Given the description of an element on the screen output the (x, y) to click on. 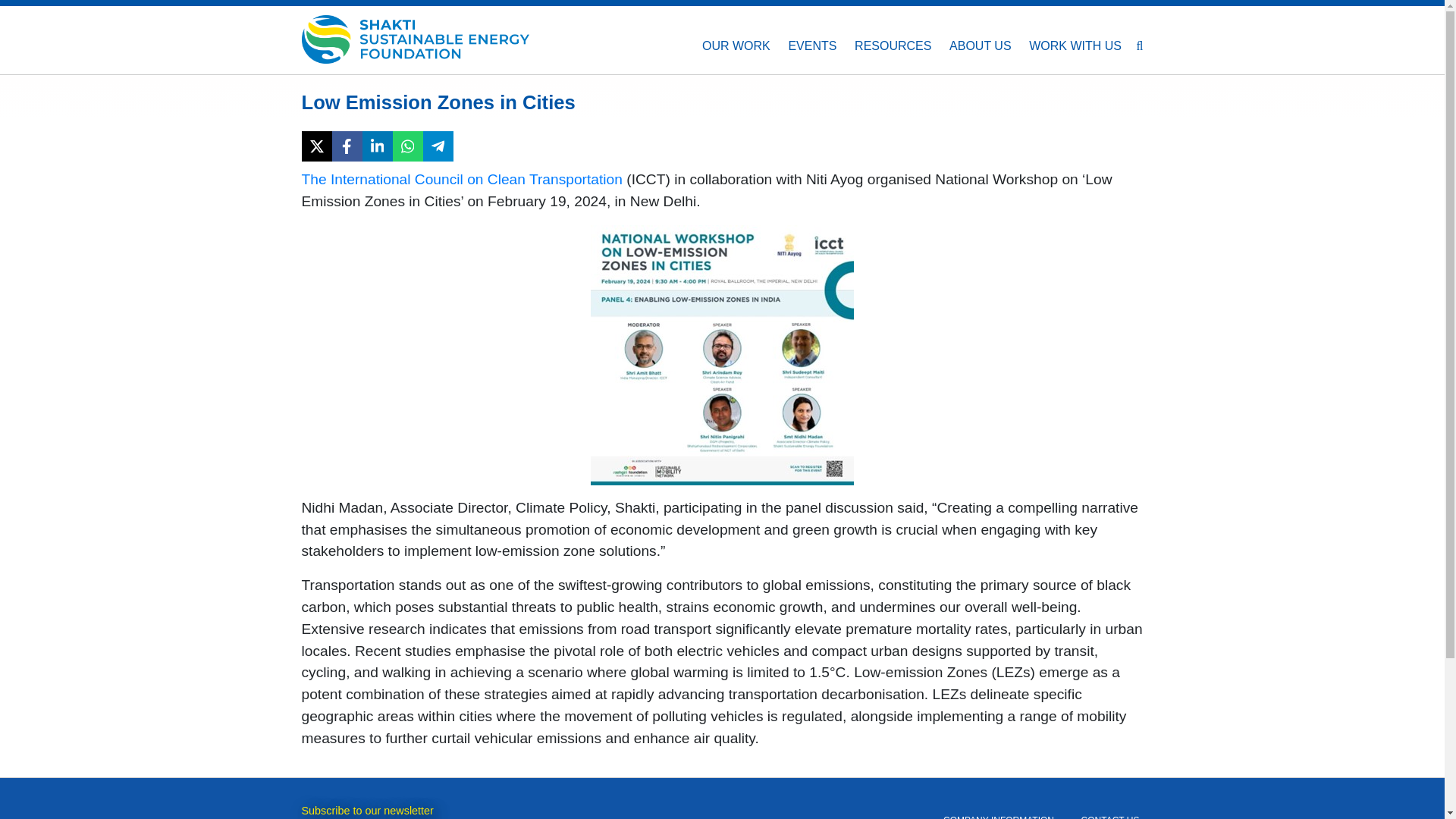
OUR WORK (735, 46)
ABOUT US (979, 46)
RESOURCES (893, 46)
EVENTS (812, 46)
